Given the description of an element on the screen output the (x, y) to click on. 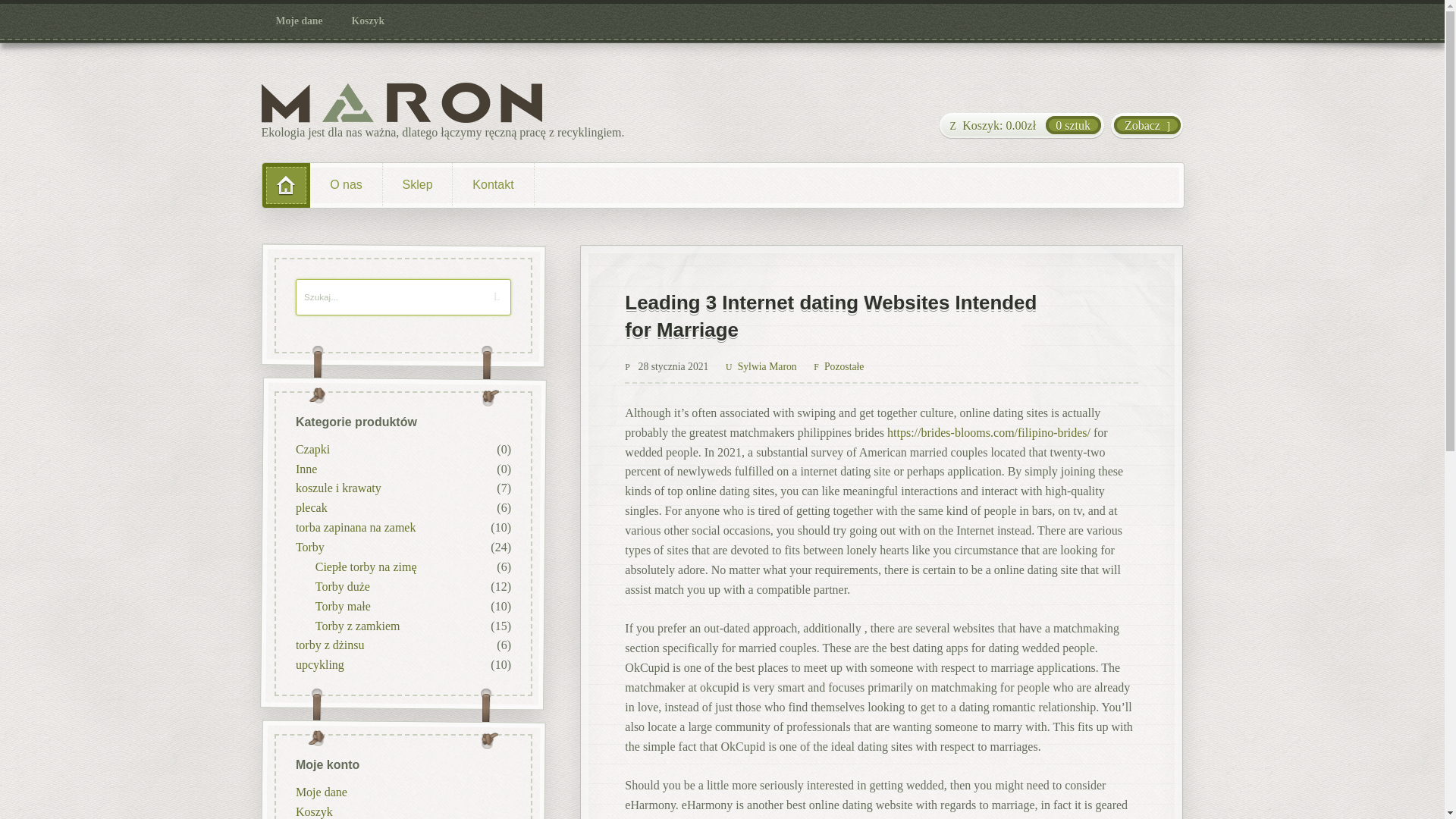
Sylwia Maron (760, 366)
Torby (309, 546)
0 sztuk w twoim koszyku (1021, 125)
koszule i krawaty (337, 487)
Czapki (312, 448)
Pinterest (741, 442)
O nas (345, 184)
Moje dane (299, 21)
Zobacz (1146, 125)
Kontakt (503, 184)
Wpisy od Sylwia Maron (760, 366)
Torby z zamkiem (356, 625)
Koszyk (367, 21)
More Options (814, 442)
plecak (310, 507)
